Given the description of an element on the screen output the (x, y) to click on. 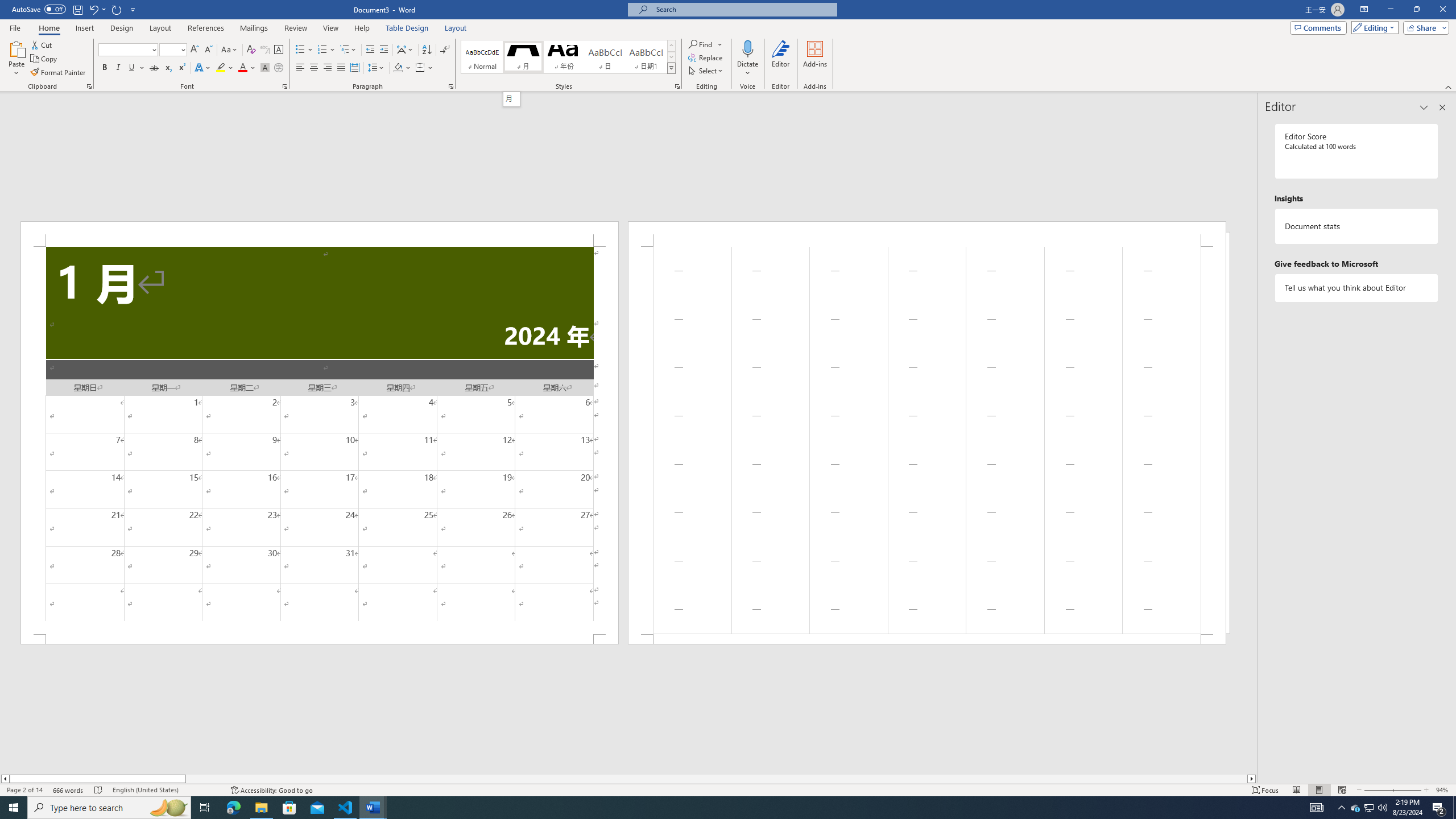
Format Painter (58, 72)
Mode (1372, 27)
Subscript (167, 67)
Character Border (278, 49)
Document statistics (1356, 226)
Phonetic Guide... (264, 49)
